Given the description of an element on the screen output the (x, y) to click on. 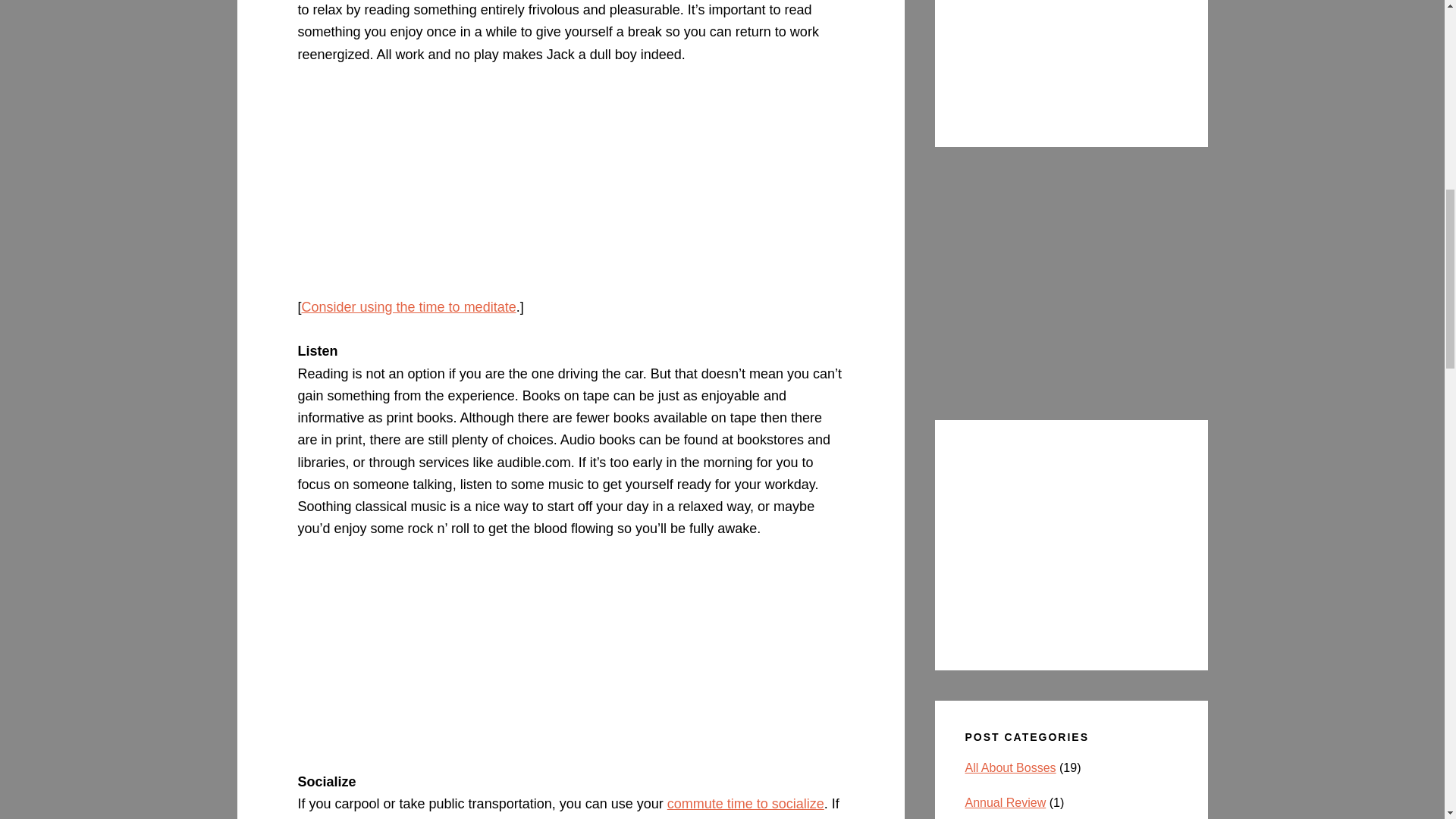
commute time to socialize (745, 803)
All About Bosses (1009, 767)
Annual Review (1004, 802)
Advertisement (570, 190)
Advertisement (570, 664)
Advertisement (1070, 283)
Consider using the time to meditate (408, 306)
